Given the description of an element on the screen output the (x, y) to click on. 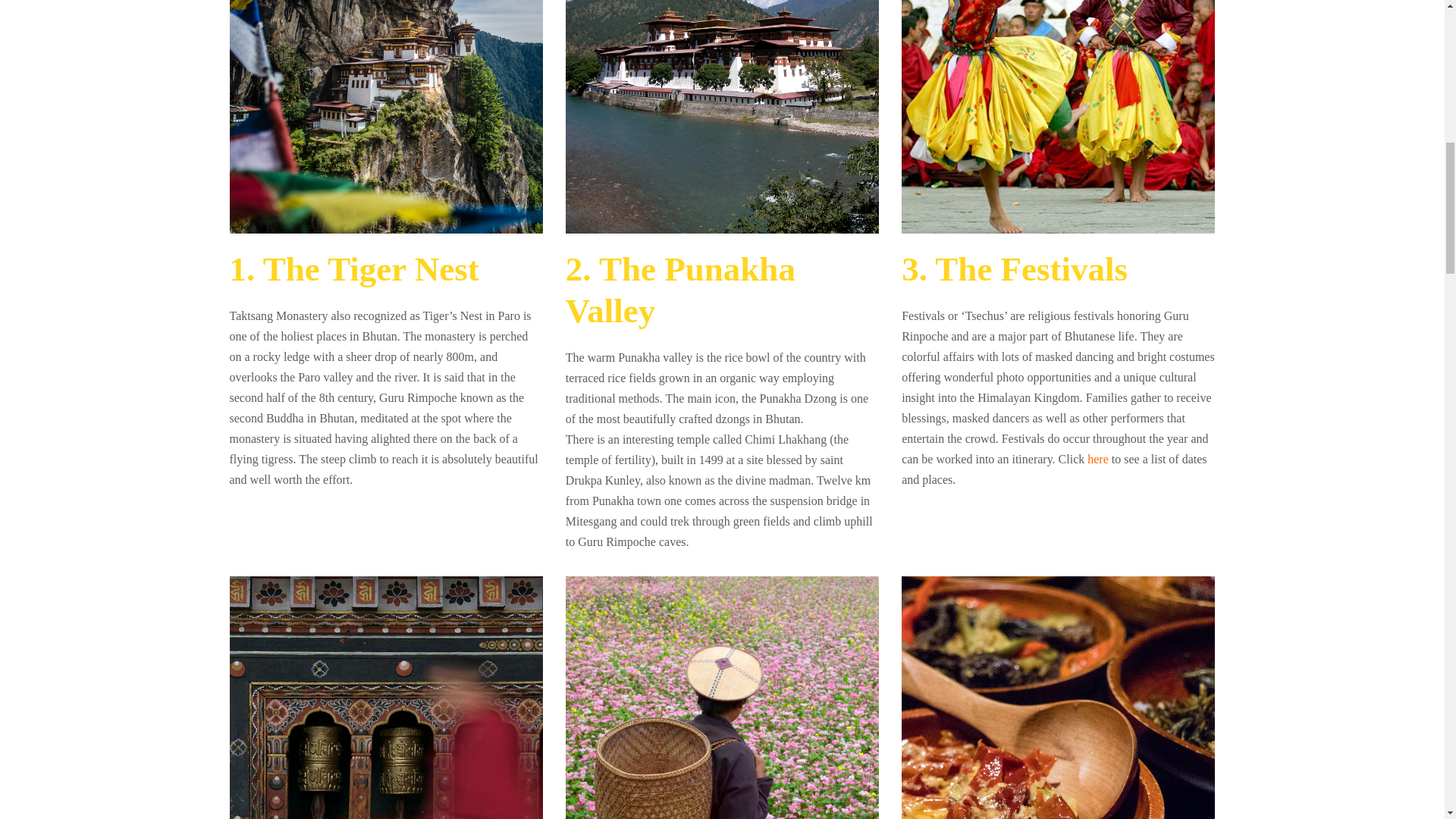
festivals - top attraction (1057, 116)
Monasteries of Bhutan - Top attraction (384, 697)
The Tiger Nest - Top attractions Bhutan (384, 116)
Bumthang Valley - Top attraction (722, 697)
Cuisine of bhutan - Top attraction (1057, 697)
punakha dzong - Top attraction Bhutan (722, 116)
